Given the description of an element on the screen output the (x, y) to click on. 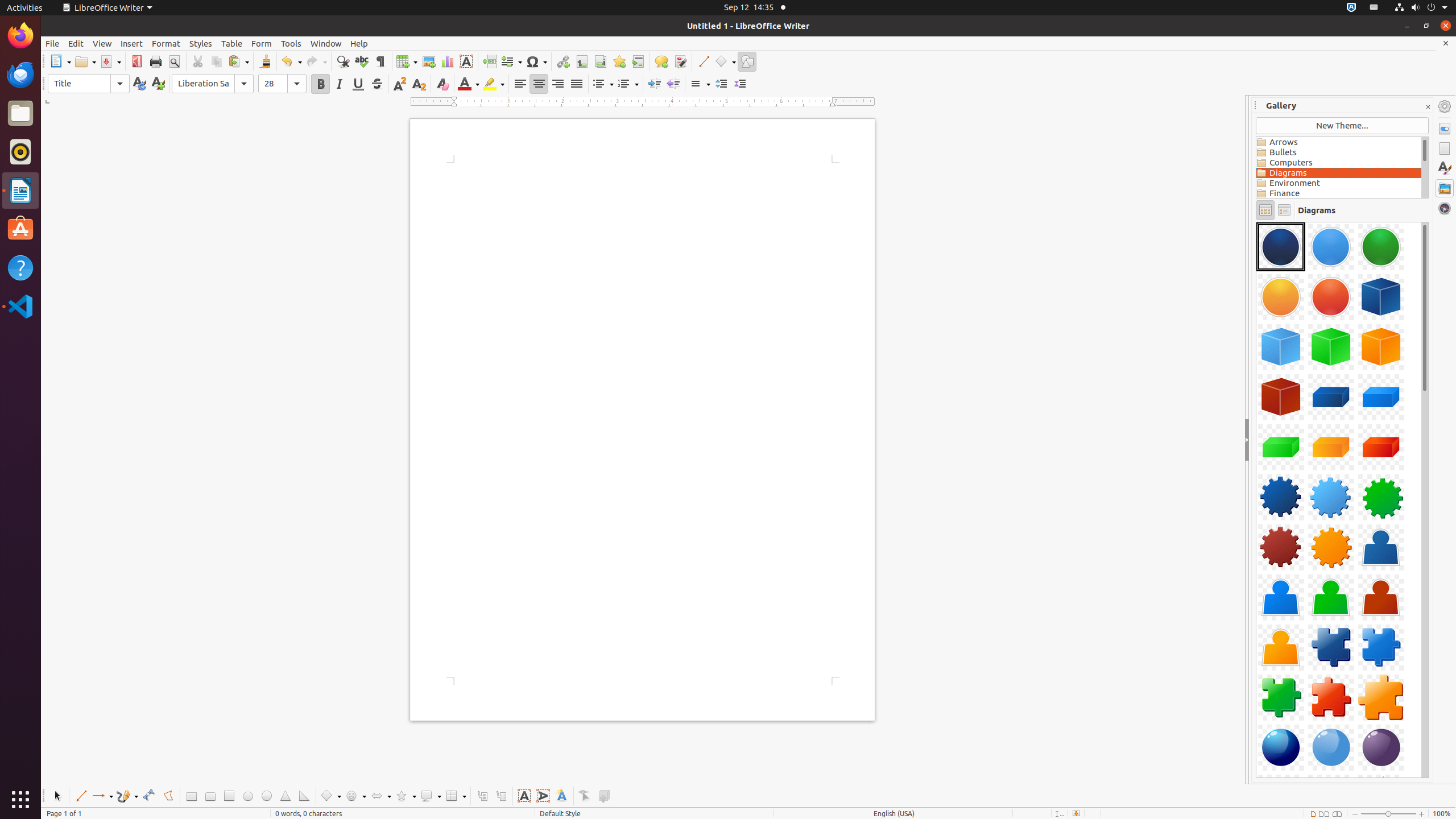
Font Size Element type: combo-box (282, 83)
Component-Person05-Orange Element type: list-item (1280, 646)
Print Preview Element type: toggle-button (173, 61)
Fontwork Style Element type: toggle-button (561, 795)
Page Break Element type: push-button (489, 61)
